Given the description of an element on the screen output the (x, y) to click on. 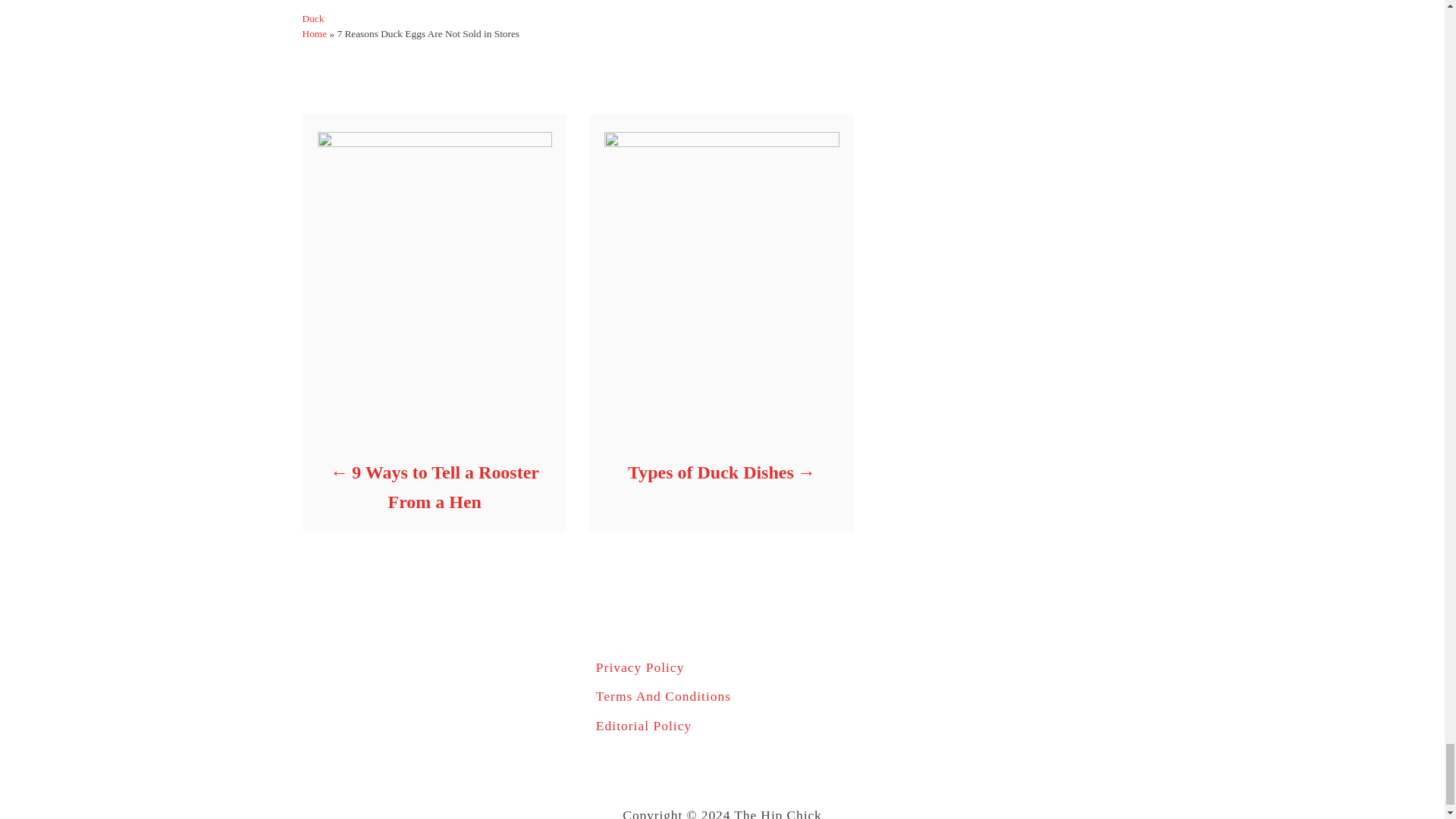
Home (313, 33)
Privacy Policy (721, 667)
Terms And Conditions (721, 695)
Duck (312, 18)
Types of Duck Dishes (721, 472)
9 Ways to Tell a Rooster From a Hen (434, 486)
Editorial Policy (721, 725)
